Given the description of an element on the screen output the (x, y) to click on. 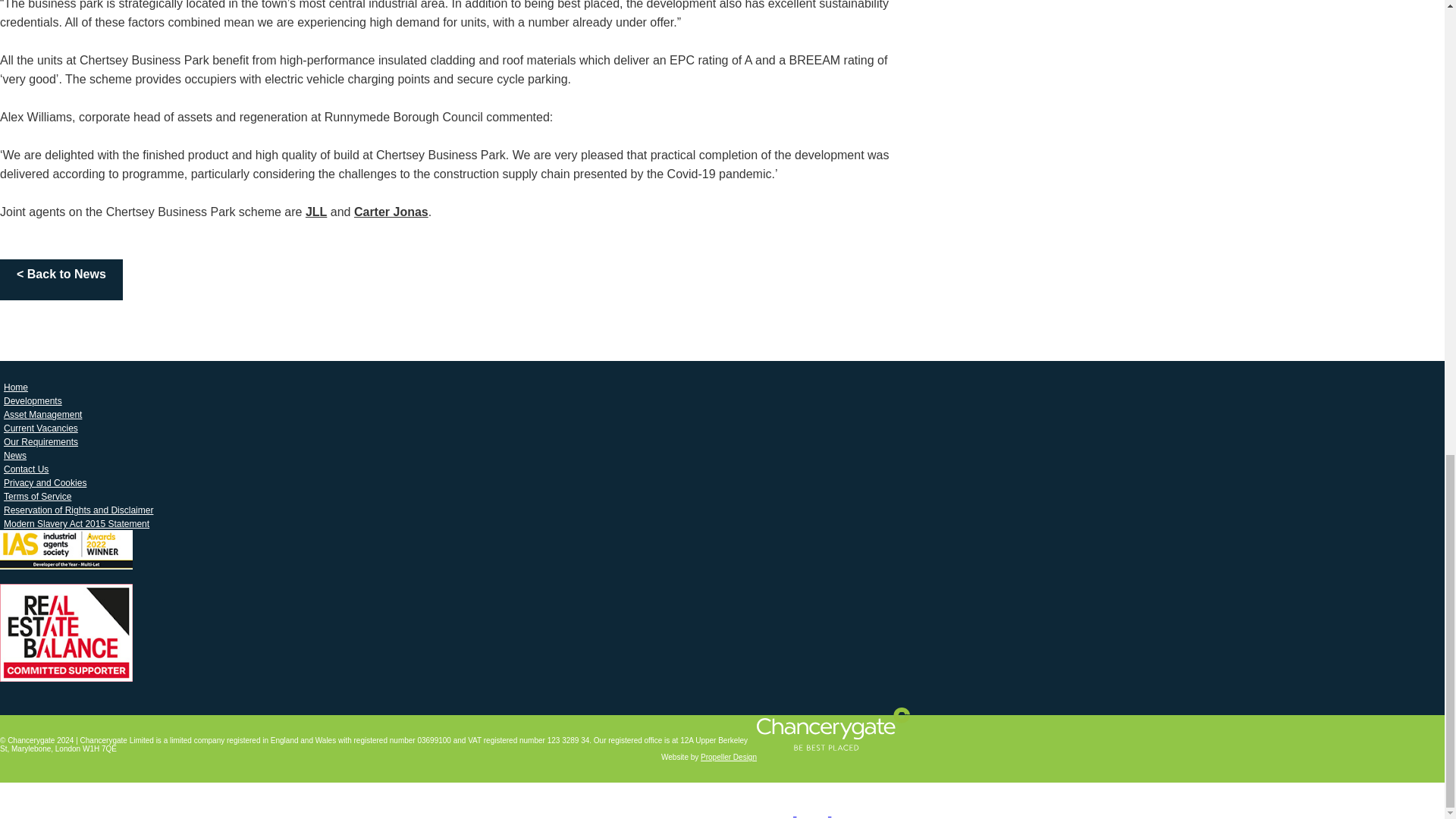
JLL (315, 211)
News (15, 455)
Contact Us (26, 469)
Developments (32, 401)
Carter Jonas (390, 211)
Our Requirements (40, 442)
Asset Management (42, 414)
Terms of Service (37, 496)
Contact Us (26, 469)
Propeller Design (728, 756)
Current Vacancies (40, 428)
Modern Slavery Act 2015 Statement (76, 524)
Reservation of Rights and Disclaimer (78, 510)
Reservation of Rights and Disclaimer (78, 510)
News (15, 455)
